Given the description of an element on the screen output the (x, y) to click on. 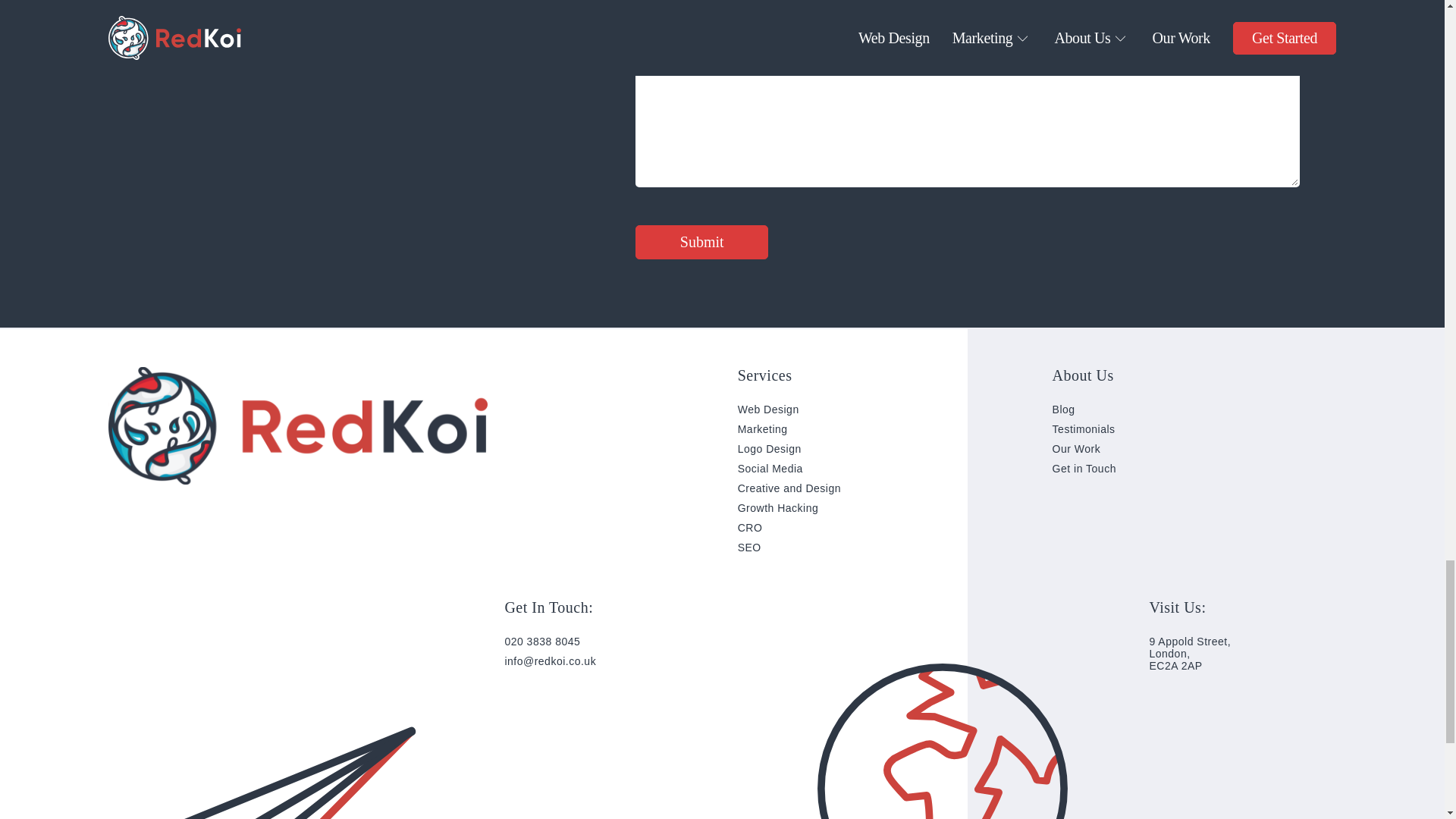
Submit (701, 242)
Web Design (768, 409)
Submit (701, 242)
Marketing (762, 428)
Services (765, 375)
